Given the description of an element on the screen output the (x, y) to click on. 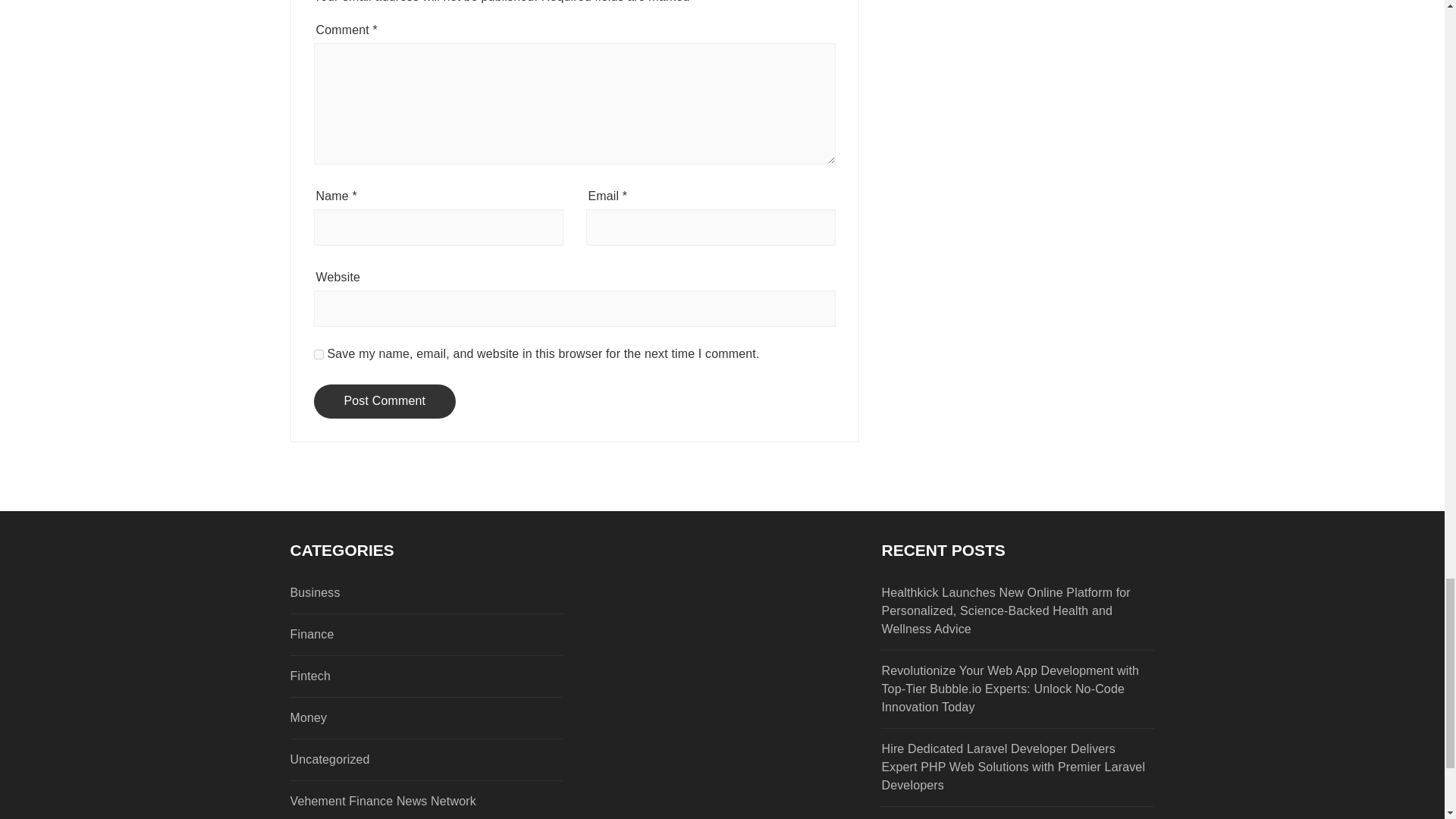
Finance (398, 634)
Post Comment (385, 401)
yes (318, 354)
Vehement Finance News Network (398, 801)
Business (398, 592)
Uncategorized (398, 760)
Post Comment (385, 401)
Fintech (398, 676)
Money (398, 718)
